Given the description of an element on the screen output the (x, y) to click on. 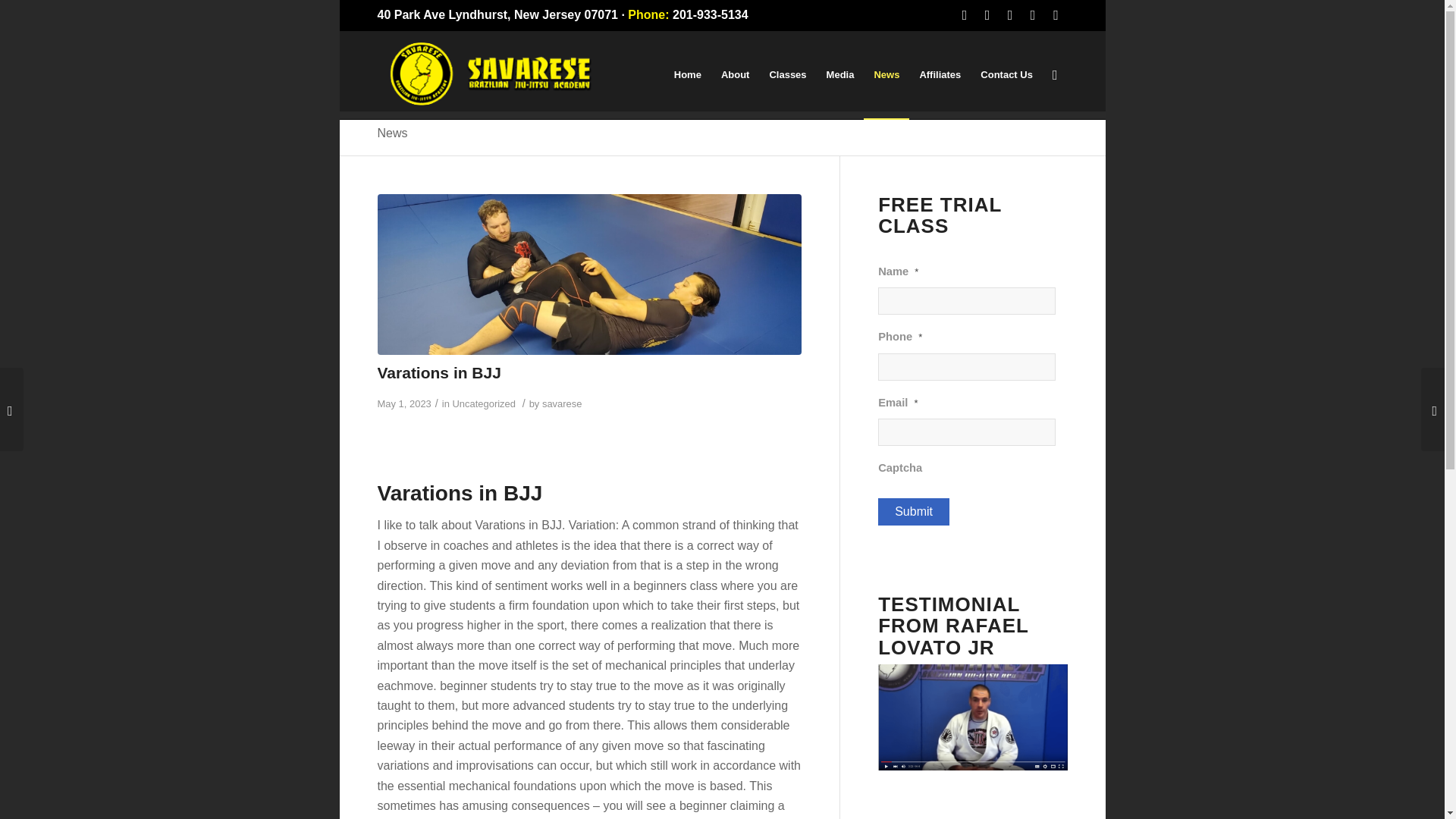
Varations in BJJ (438, 372)
savarese (561, 403)
Uncategorized (483, 403)
201-933-5134 (710, 14)
Posts by savarese (561, 403)
Permanent Link: News (392, 132)
News (392, 132)
Permanent Link: Varations in BJJ (438, 372)
